Given the description of an element on the screen output the (x, y) to click on. 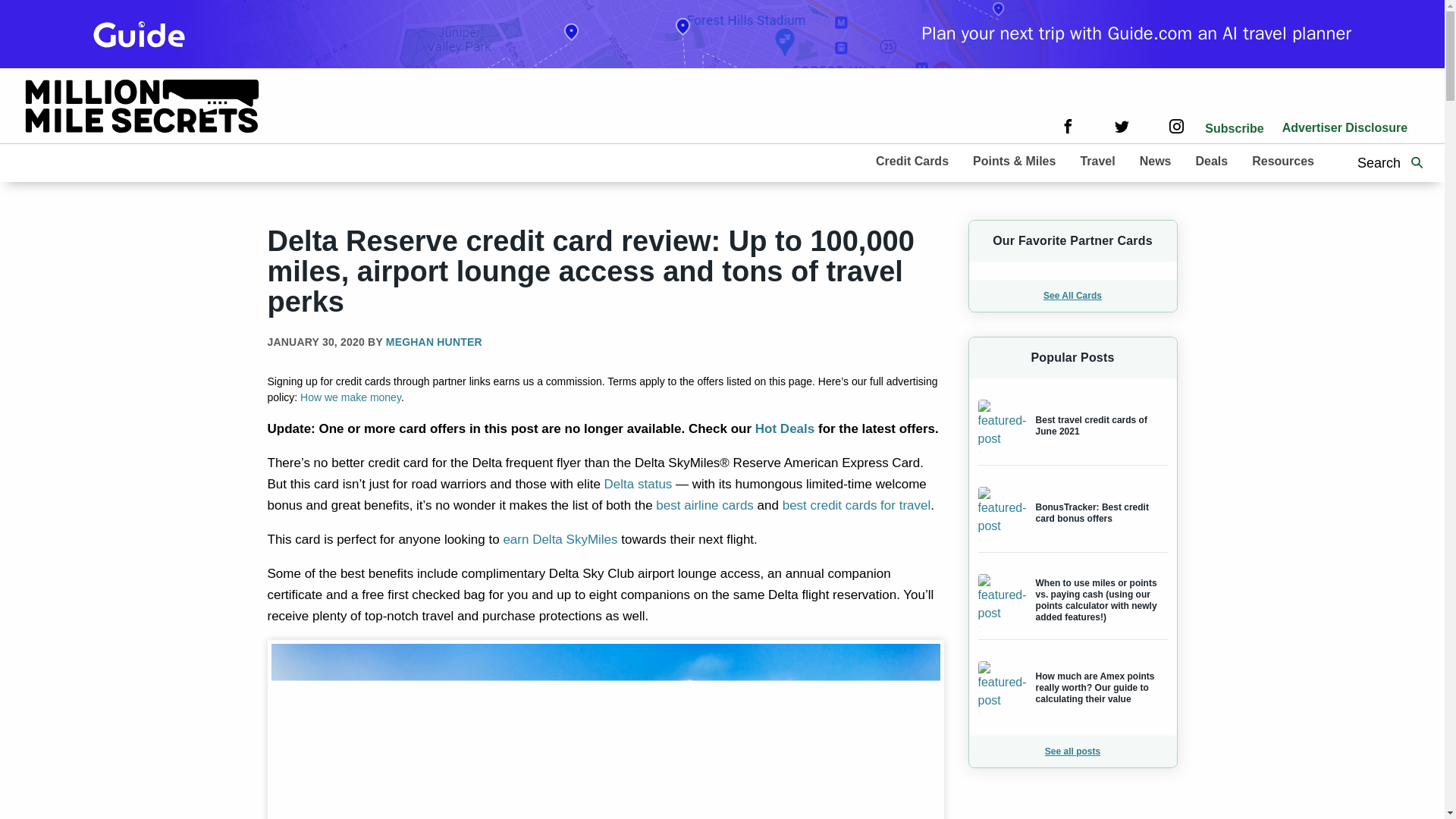
mms-logo-2 (142, 105)
How we make money (350, 397)
Resources (1283, 160)
MEGHAN HUNTER (433, 341)
Deals (1211, 160)
Subscribe (1234, 128)
News (1154, 160)
Search (1417, 162)
Hot Deals (784, 428)
mms-logo-2 (142, 108)
